Given the description of an element on the screen output the (x, y) to click on. 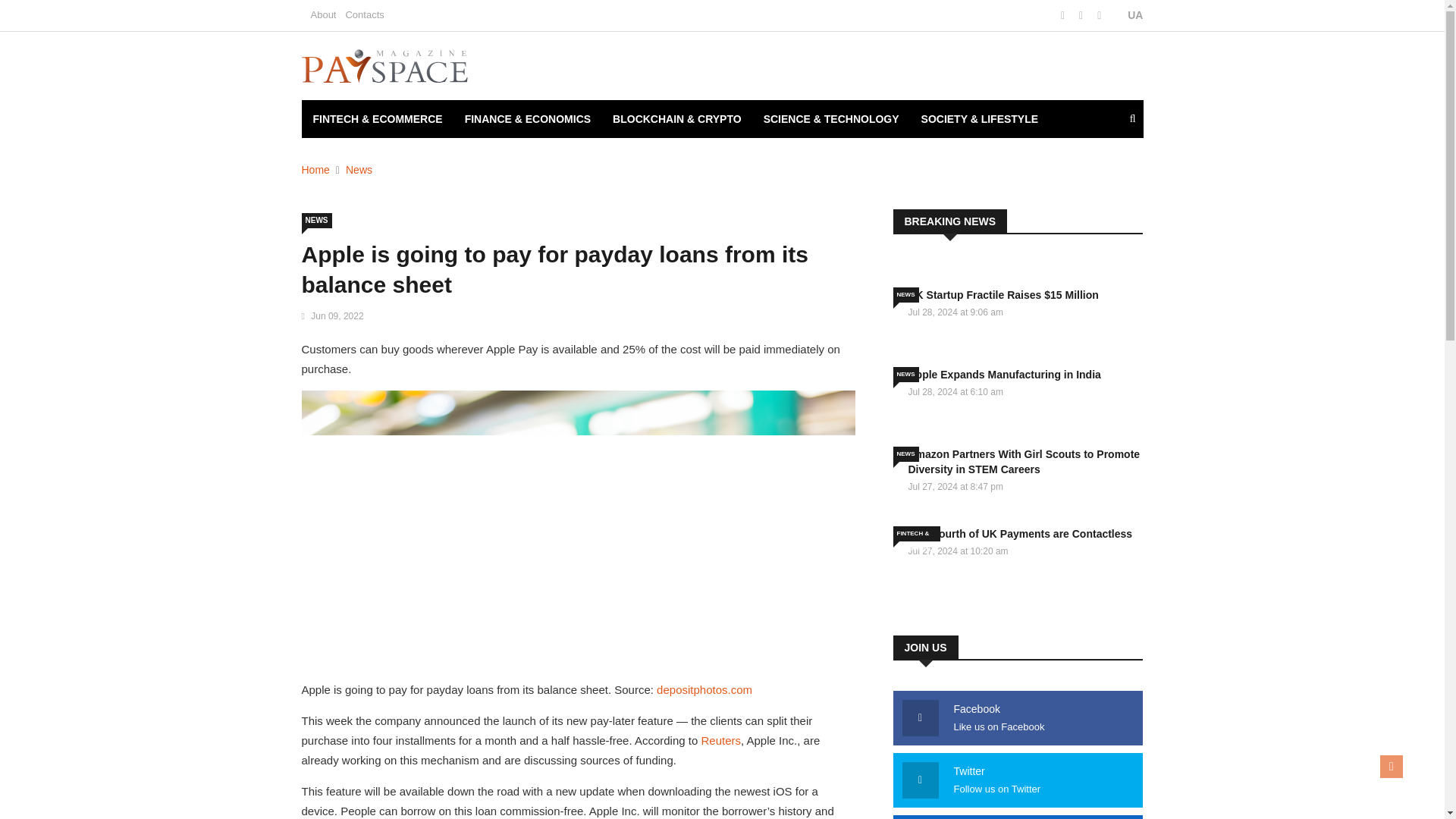
NEWS (316, 220)
Home (315, 169)
UA (1127, 15)
Contacts (364, 14)
depositphotos.com (704, 689)
About (323, 14)
Back to Top (1391, 766)
BIN CHECKER (349, 157)
News (359, 169)
Reuters (720, 739)
